Given the description of an element on the screen output the (x, y) to click on. 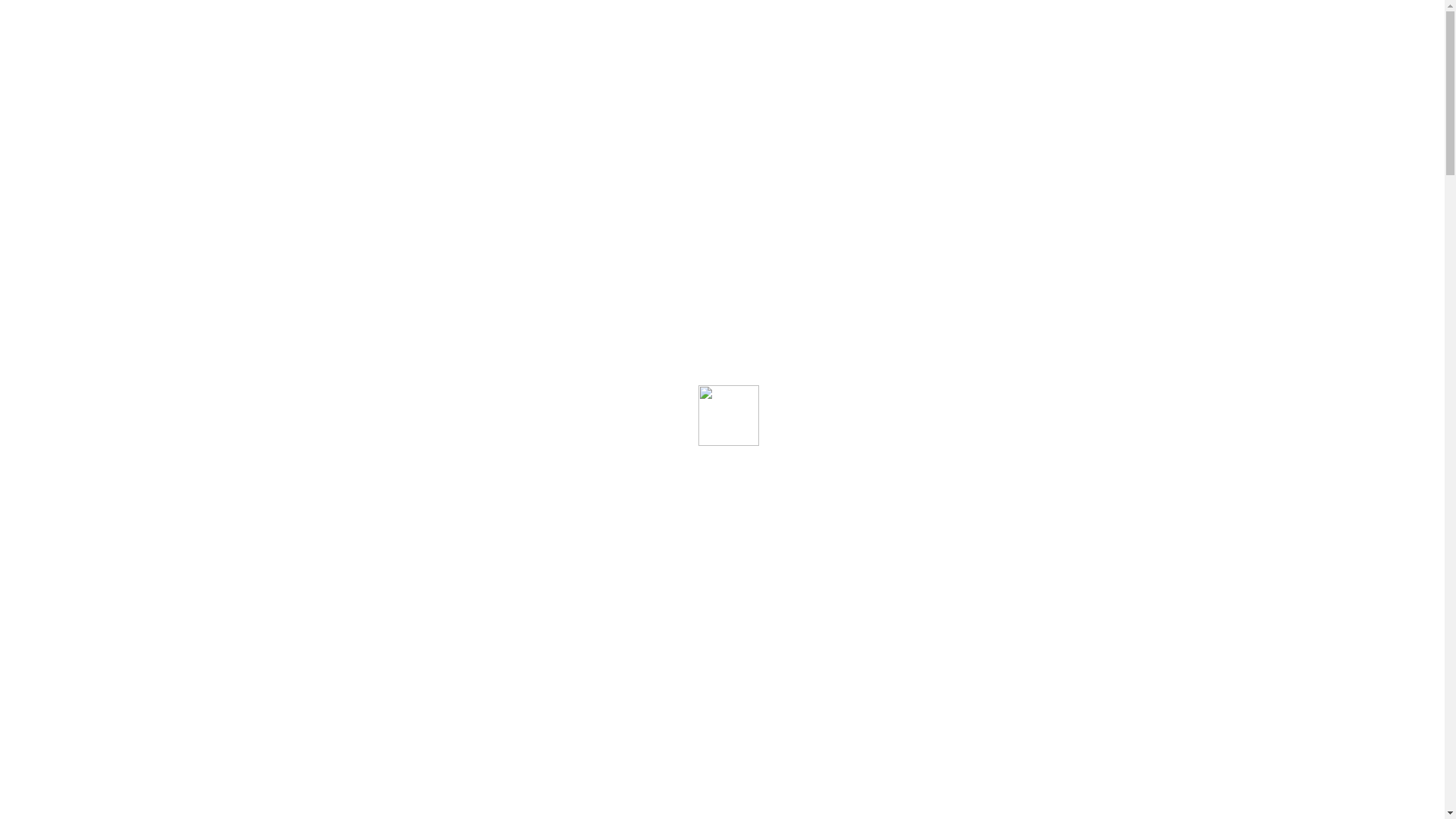
Tip & Tricks Element type: text (131, 612)
Avvisi e comunicazioni Element type: text (162, 647)
About us Element type: text (91, 269)
Scan or CAD to BIM Element type: text (94, 182)
Inside 2Dto6D Element type: text (77, 252)
About us Element type: text (91, 560)
Cerca Element type: text (25, 84)
BIM Family Library Element type: text (90, 490)
Liquid team Element type: text (69, 235)
BIM Recruitment Element type: text (114, 165)
Formazione e Affiancamento Element type: text (118, 438)
Instagram page opens in new window Element type: text (17, 66)
BIM Management Element type: text (86, 508)
Contacts Element type: text (61, 391)
Liquid team Element type: text (69, 525)
Blog e News Element type: text (102, 304)
Inside 2Dto6D Element type: text (77, 542)
BIM Family Library Element type: text (90, 200)
Press kit Element type: text (91, 664)
Dicono di noi Element type: text (134, 339)
Lavora con noi Element type: text (108, 699)
Jul212021 Element type: text (35, 728)
BIM Recruitment Element type: text (114, 455)
Avvisi e comunicazioni Element type: text (162, 357)
Lavora con noi Element type: text (108, 409)
Press kit Element type: text (91, 374)
Search form Element type: hover (73, 102)
Formazione e Affiancamento Element type: text (118, 147)
Go! Element type: text (22, 120)
Scan or CAD to BIM Element type: text (94, 473)
Contacts Element type: text (61, 682)
Blog e News Element type: text (102, 595)
Dicono di noi Element type: text (134, 630)
Linkedin page opens in new window Element type: text (12, 66)
Tip & Tricks Element type: text (131, 322)
Skip to content Element type: text (5, 5)
Experience Element type: text (98, 287)
Facebook page opens in new window Element type: text (8, 66)
Experience Element type: text (98, 577)
BIM Management Element type: text (86, 217)
